Given the description of an element on the screen output the (x, y) to click on. 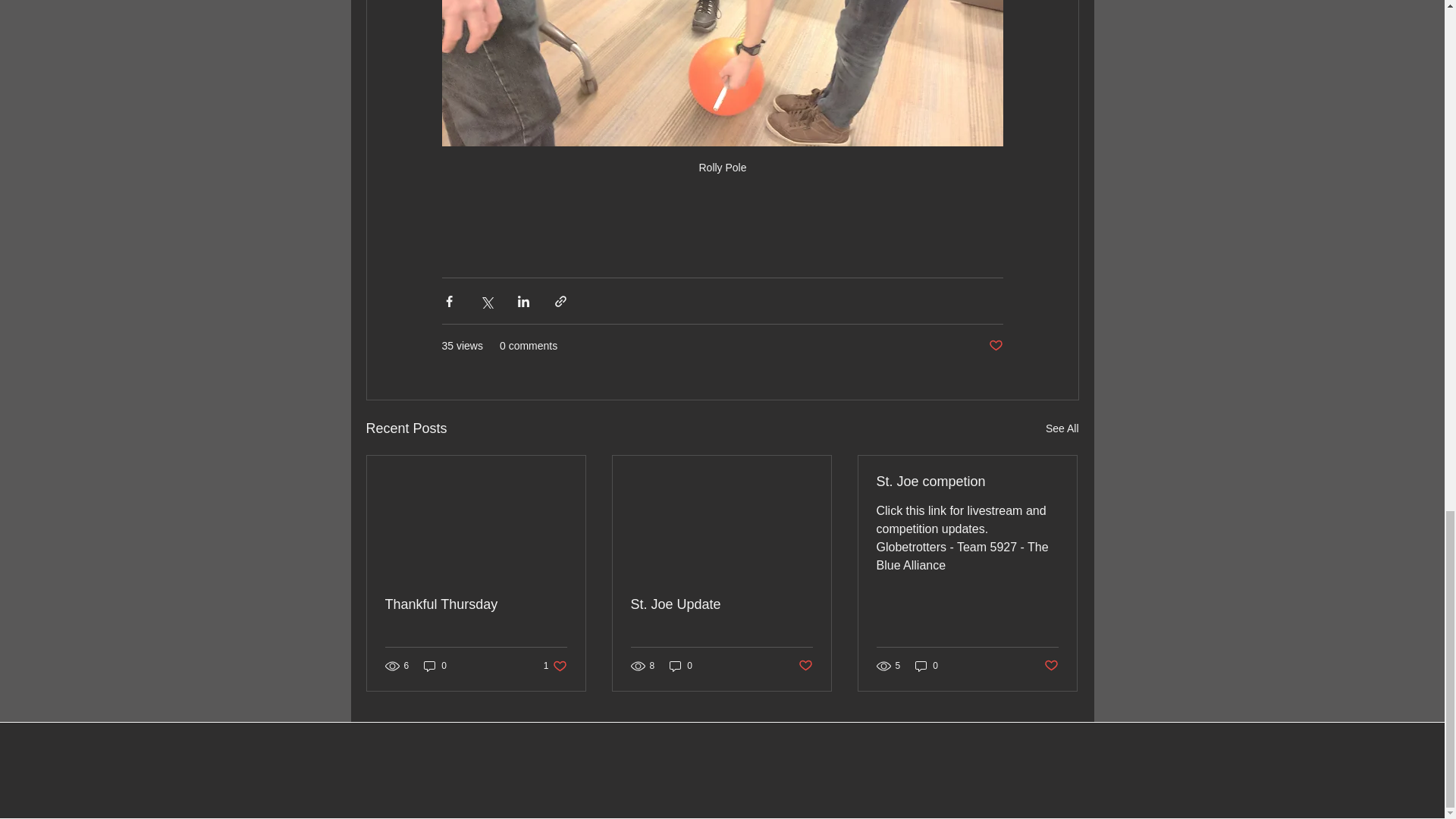
Thankful Thursday (476, 604)
0 (435, 666)
0 (681, 666)
St. Joe Update (721, 604)
Post not marked as liked (804, 665)
Post not marked as liked (1050, 665)
See All (1061, 428)
0 (926, 666)
Post not marked as liked (995, 345)
St. Joe competion (555, 666)
